Given the description of an element on the screen output the (x, y) to click on. 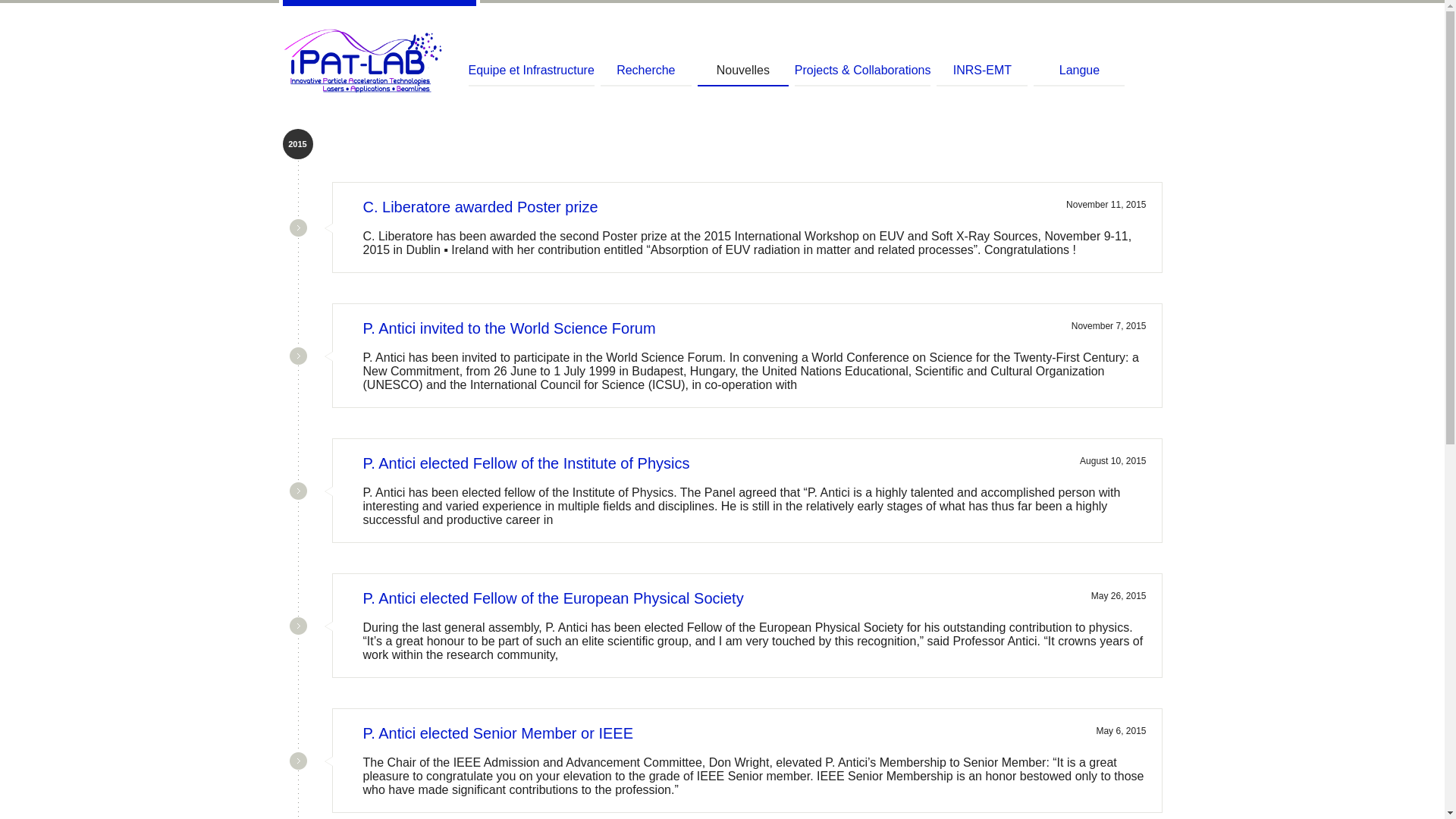
INRS-EMT (981, 74)
P. Antici elected Senior Member or IEEE (496, 733)
P. Antici invited to the World Science Forum (508, 328)
Equipe et Infrastructure (531, 74)
ipat-lab.net (365, 60)
P. Antici elected Fellow of the Institute of Physics (525, 463)
Recherche (645, 74)
P. Antici elected Fellow of the European Physical Society (552, 597)
Nouvelles (743, 74)
Langue (1078, 74)
C. Liberatore awarded Poster prize (479, 207)
